Given the description of an element on the screen output the (x, y) to click on. 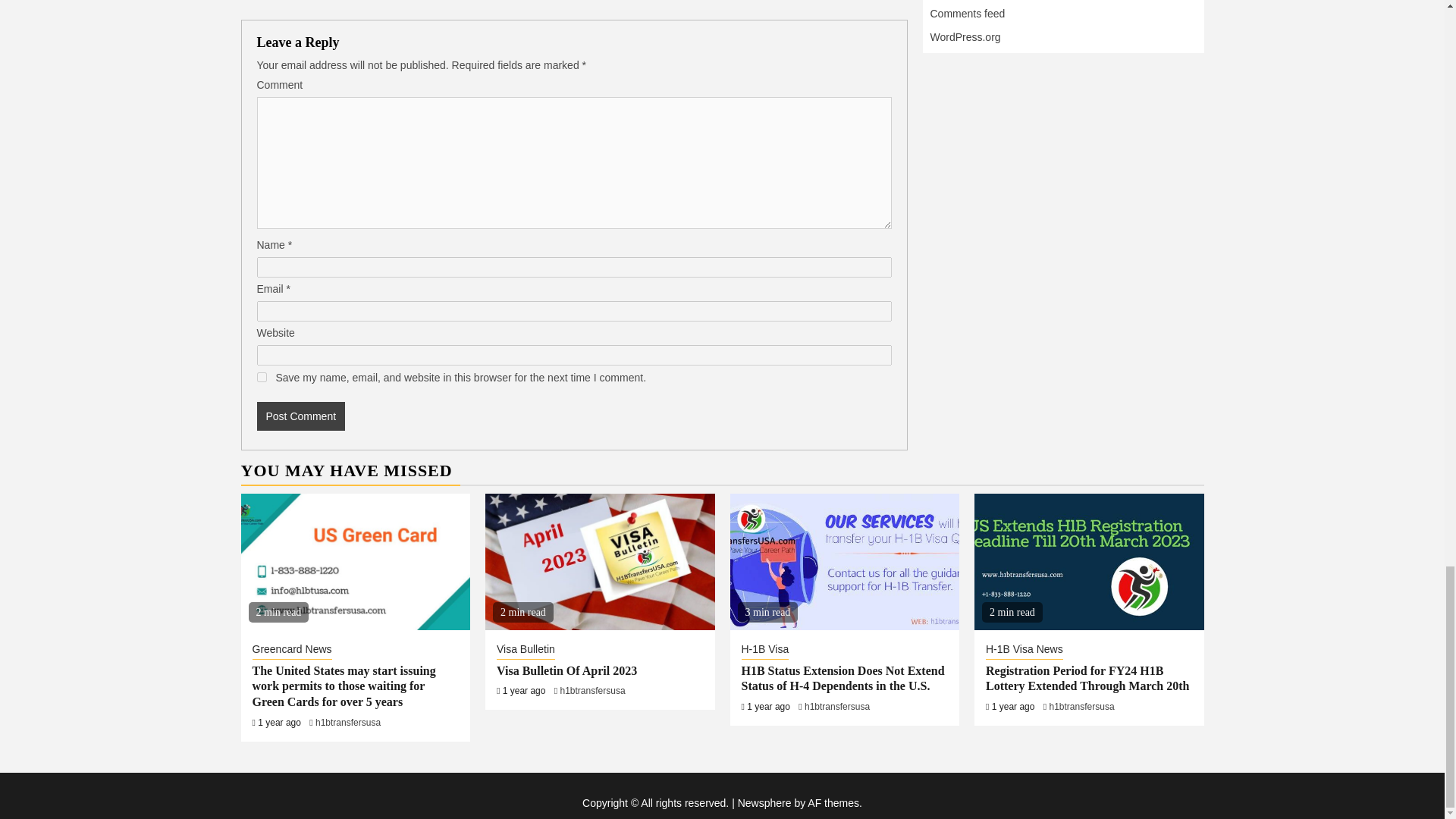
Post Comment (300, 416)
yes (261, 377)
